Given the description of an element on the screen output the (x, y) to click on. 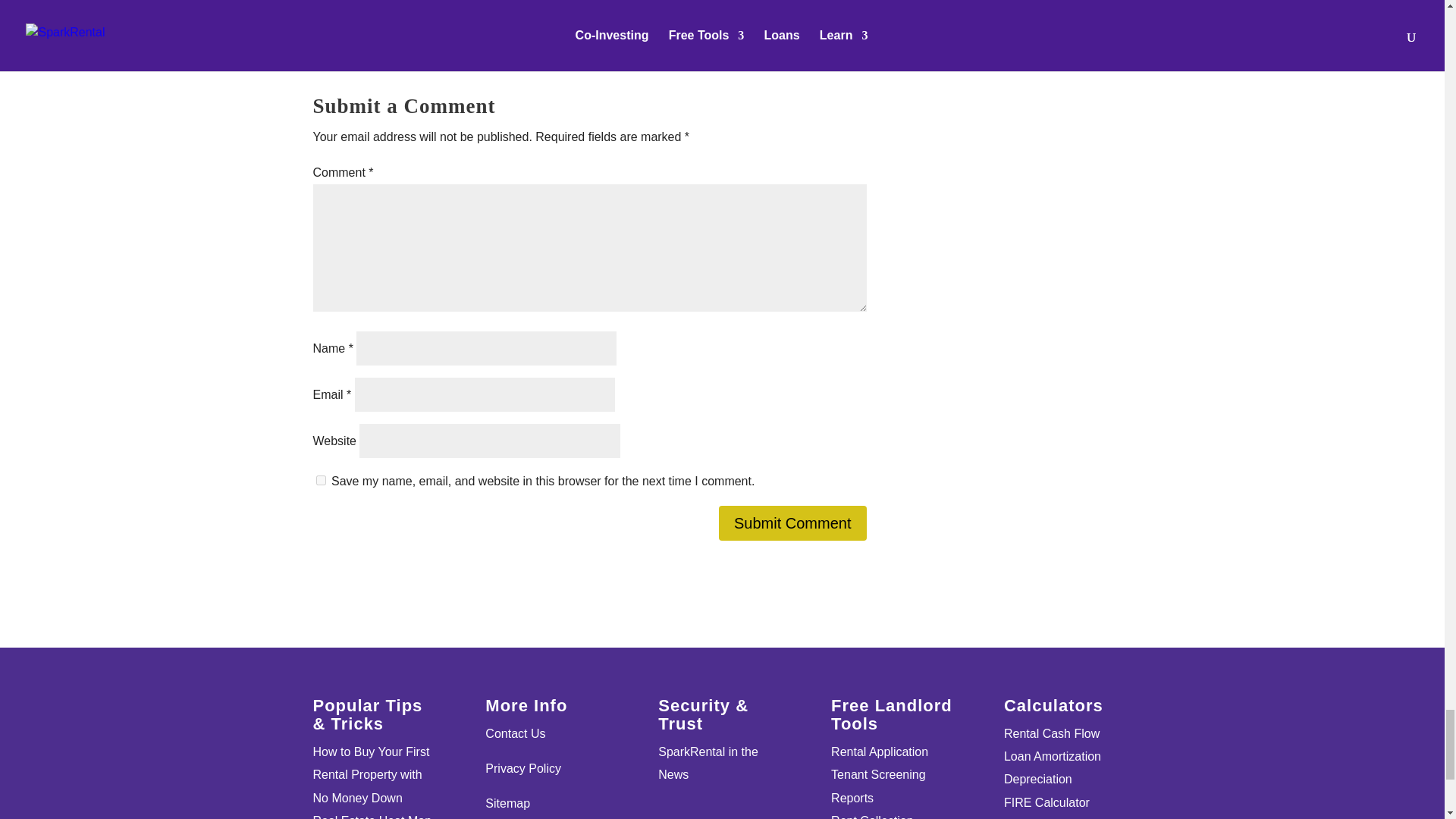
Submit Comment (792, 523)
yes (319, 480)
